Given the description of an element on the screen output the (x, y) to click on. 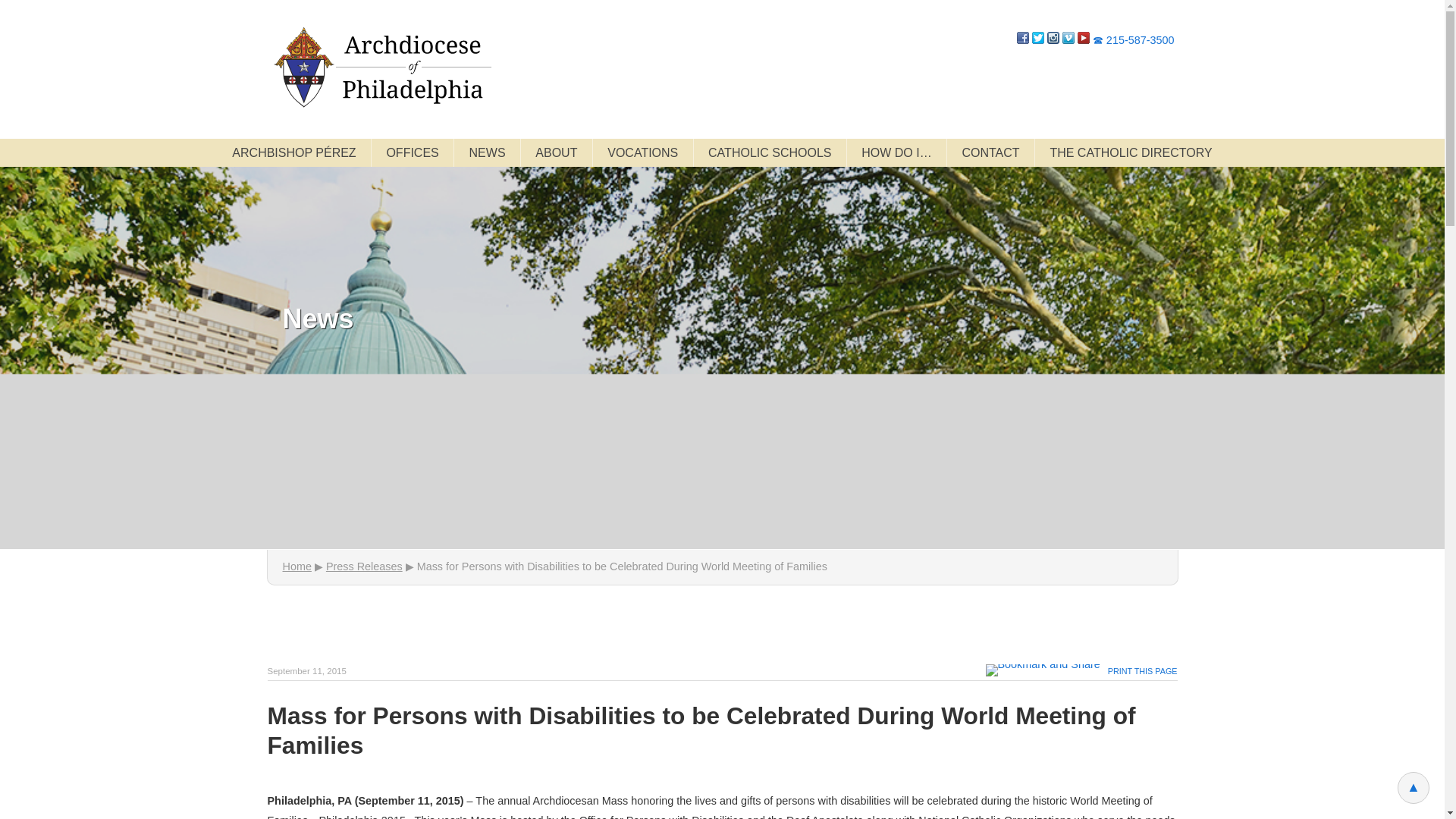
Join us on Facebook (1022, 39)
Home (380, 67)
Find us on Instagram (1052, 39)
OFFICES (411, 152)
Archdiocese of Philadelphia (380, 67)
Follow us on Twitter (1037, 39)
Watch on Vimeo (1068, 39)
Scroll to top (1413, 787)
Click to call (1133, 39)
